Given the description of an element on the screen output the (x, y) to click on. 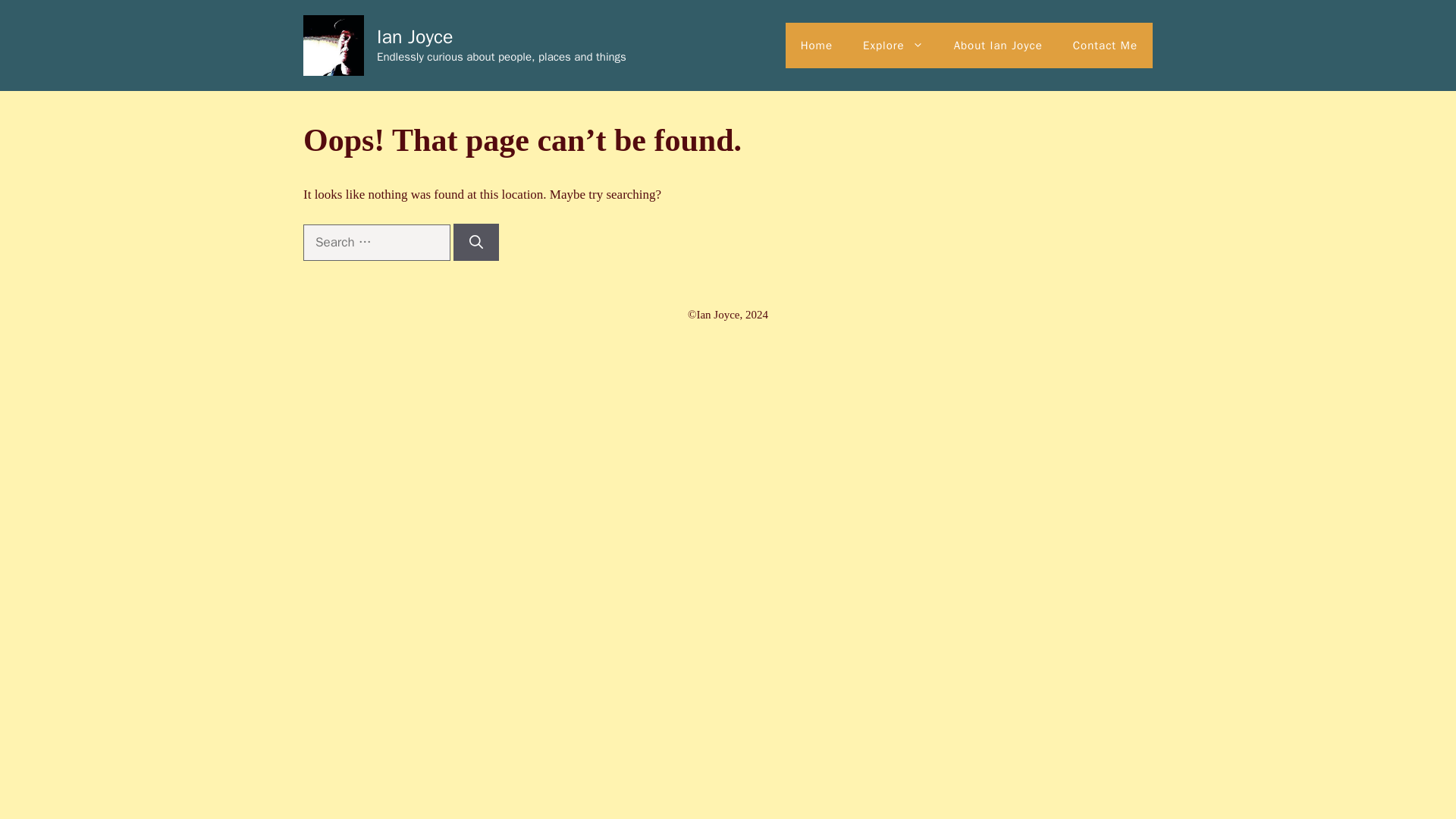
Explore (893, 44)
Ian Joyce (414, 36)
Contact Me (1105, 44)
Home (816, 44)
About Ian Joyce (998, 44)
Search for: (375, 242)
